Given the description of an element on the screen output the (x, y) to click on. 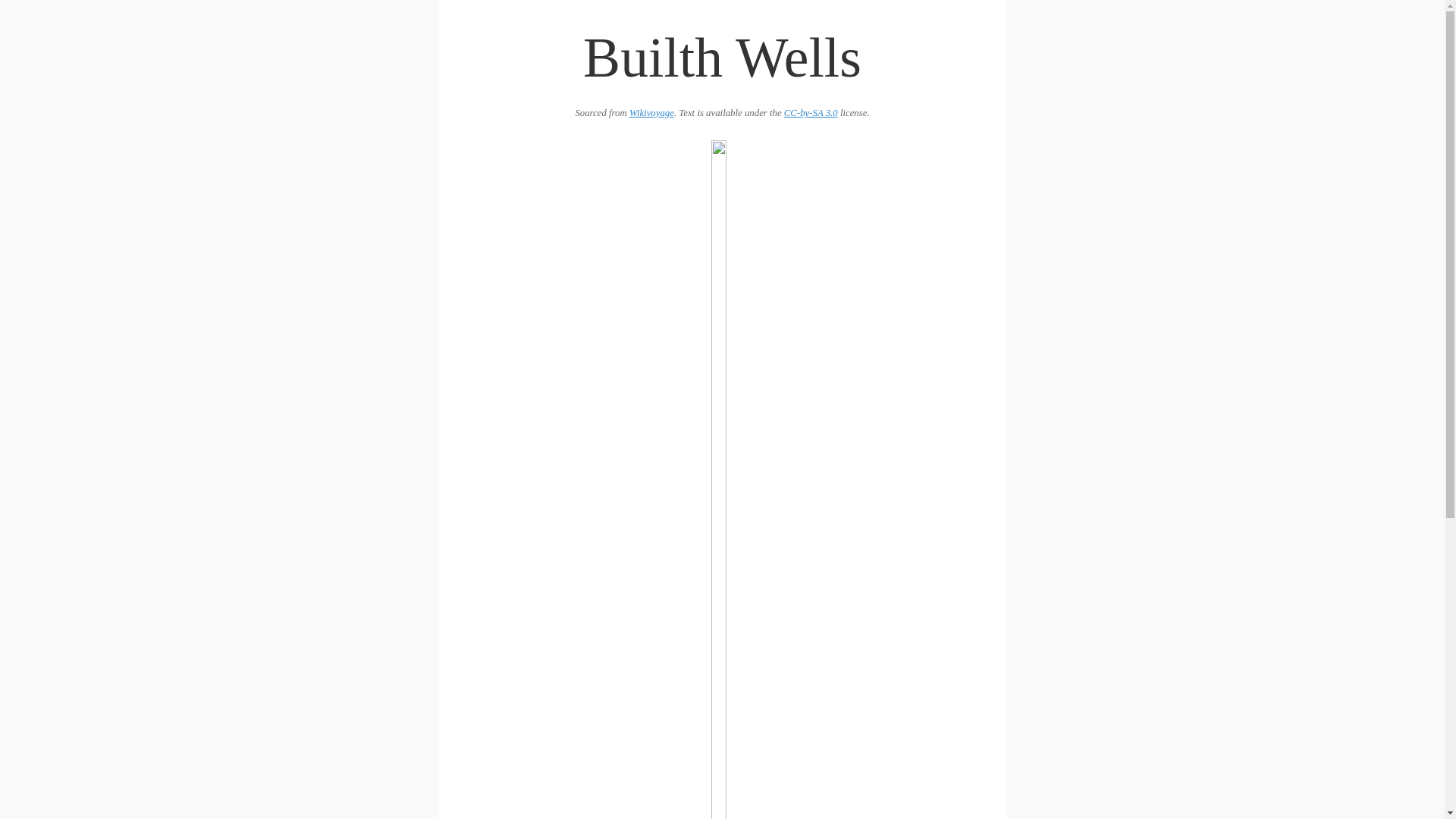
Wikivoyage (651, 112)
CC-by-SA 3.0 (811, 112)
